Given the description of an element on the screen output the (x, y) to click on. 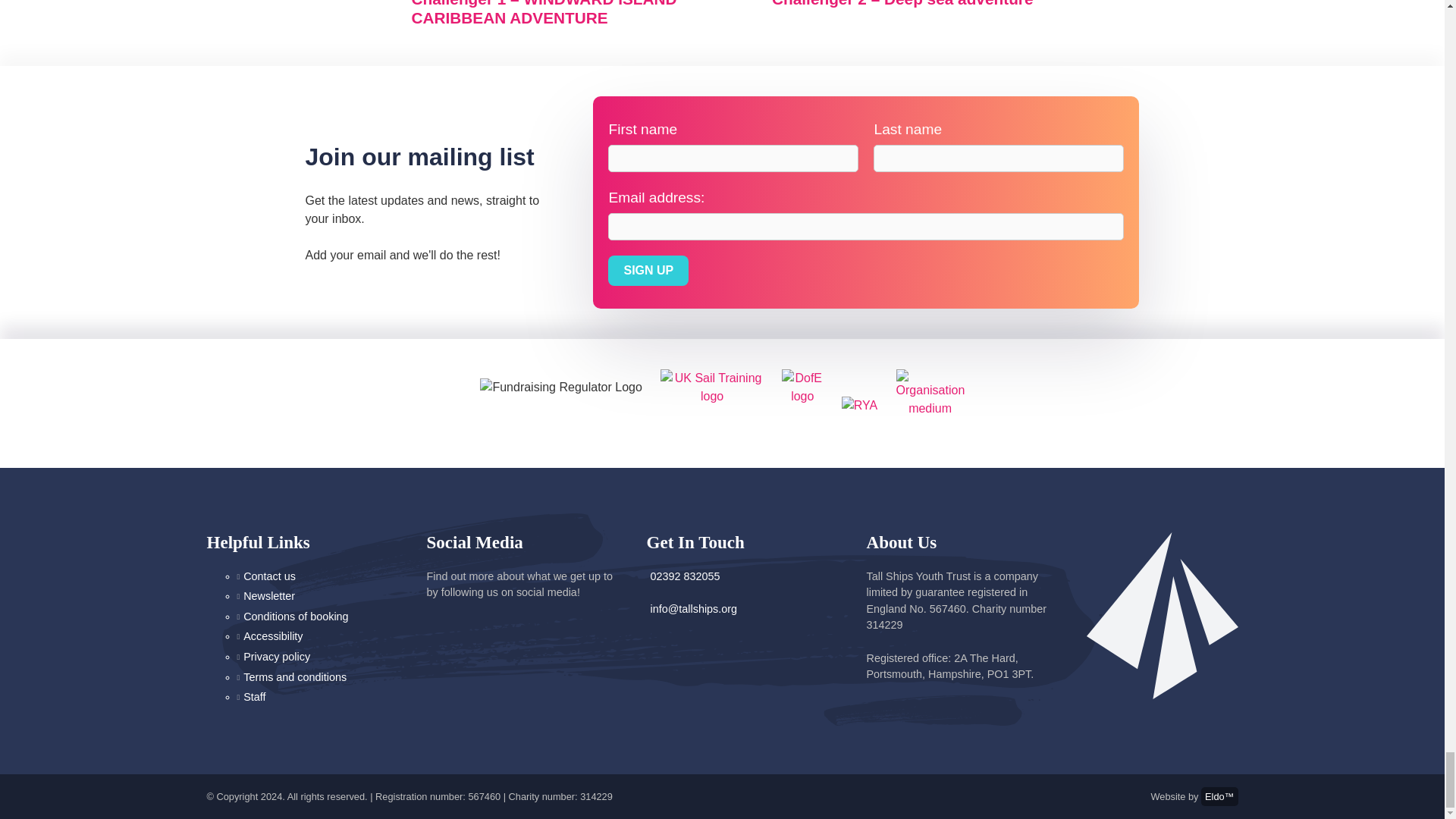
Sign up (648, 270)
